Given the description of an element on the screen output the (x, y) to click on. 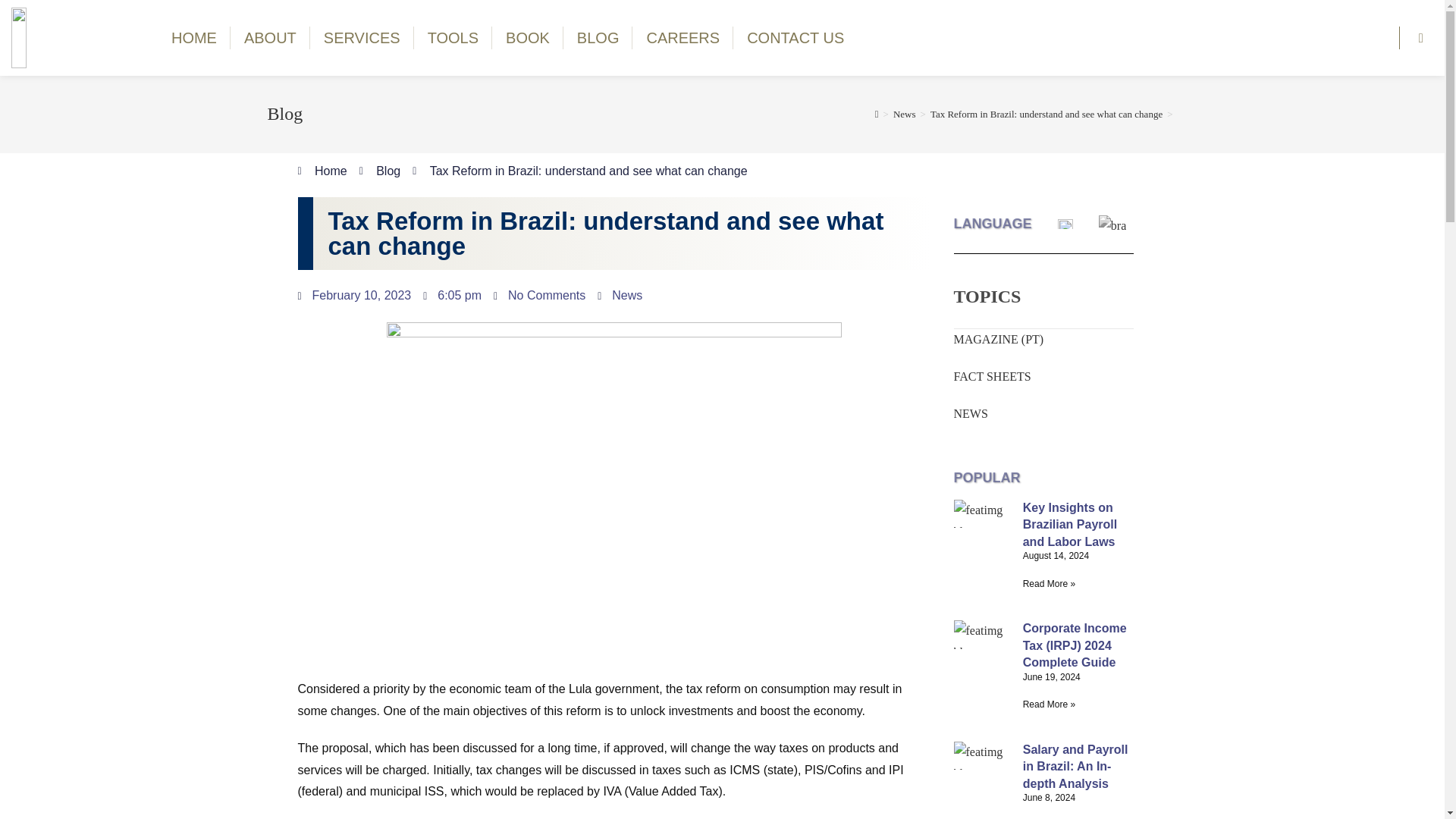
ABOUT (270, 38)
BLOG (598, 38)
BOOK (527, 38)
SERVICES (361, 38)
CONTACT US (795, 38)
HOME (193, 38)
TOOLS (452, 38)
CAREERS (682, 38)
